Given the description of an element on the screen output the (x, y) to click on. 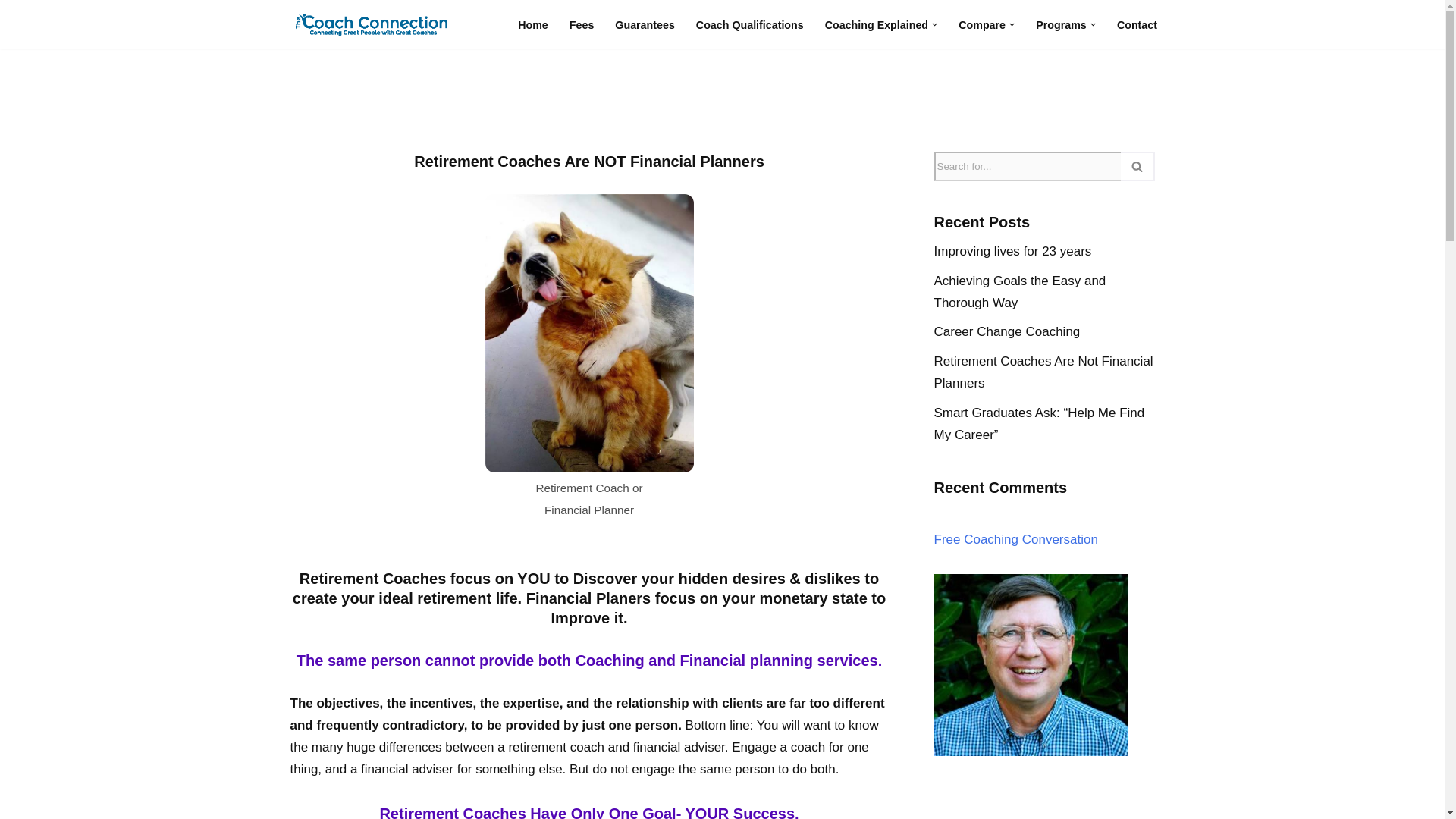
Guarantees (644, 24)
Coaching Explained (876, 24)
Contact (1136, 24)
Compare (982, 24)
Home (533, 24)
Programs (1060, 24)
Fees (581, 24)
Coach Qualifications (749, 24)
Skip to content (11, 31)
